Given the description of an element on the screen output the (x, y) to click on. 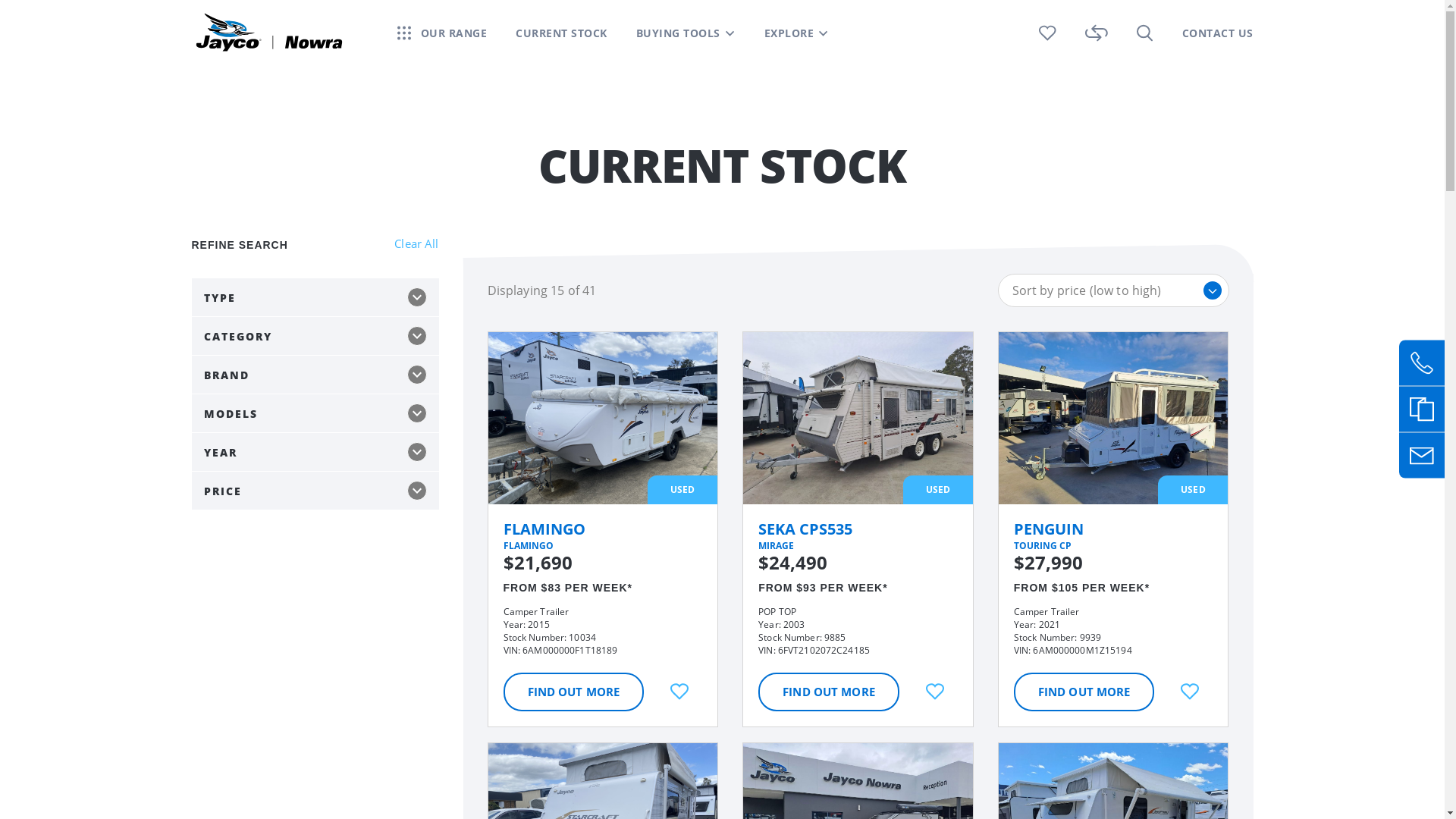
CURRENT STOCK Element type: text (561, 32)
OUR RANGE Element type: text (442, 32)
CURRENT STOCK Element type: text (561, 32)
CONTACT US Element type: text (1216, 32)
EXPLORE Element type: text (789, 32)
Clear All Element type: text (416, 243)
OUR RANGE Element type: text (453, 32)
FIND OUT MORE Element type: text (828, 691)
CONTACT US Element type: text (1216, 32)
EXPLORE Element type: text (796, 32)
BUYING TOOLS Element type: text (684, 32)
BUYING TOOLS Element type: text (677, 32)
FIND OUT MORE Element type: text (573, 691)
FIND OUT MORE Element type: text (1083, 691)
